Given the description of an element on the screen output the (x, y) to click on. 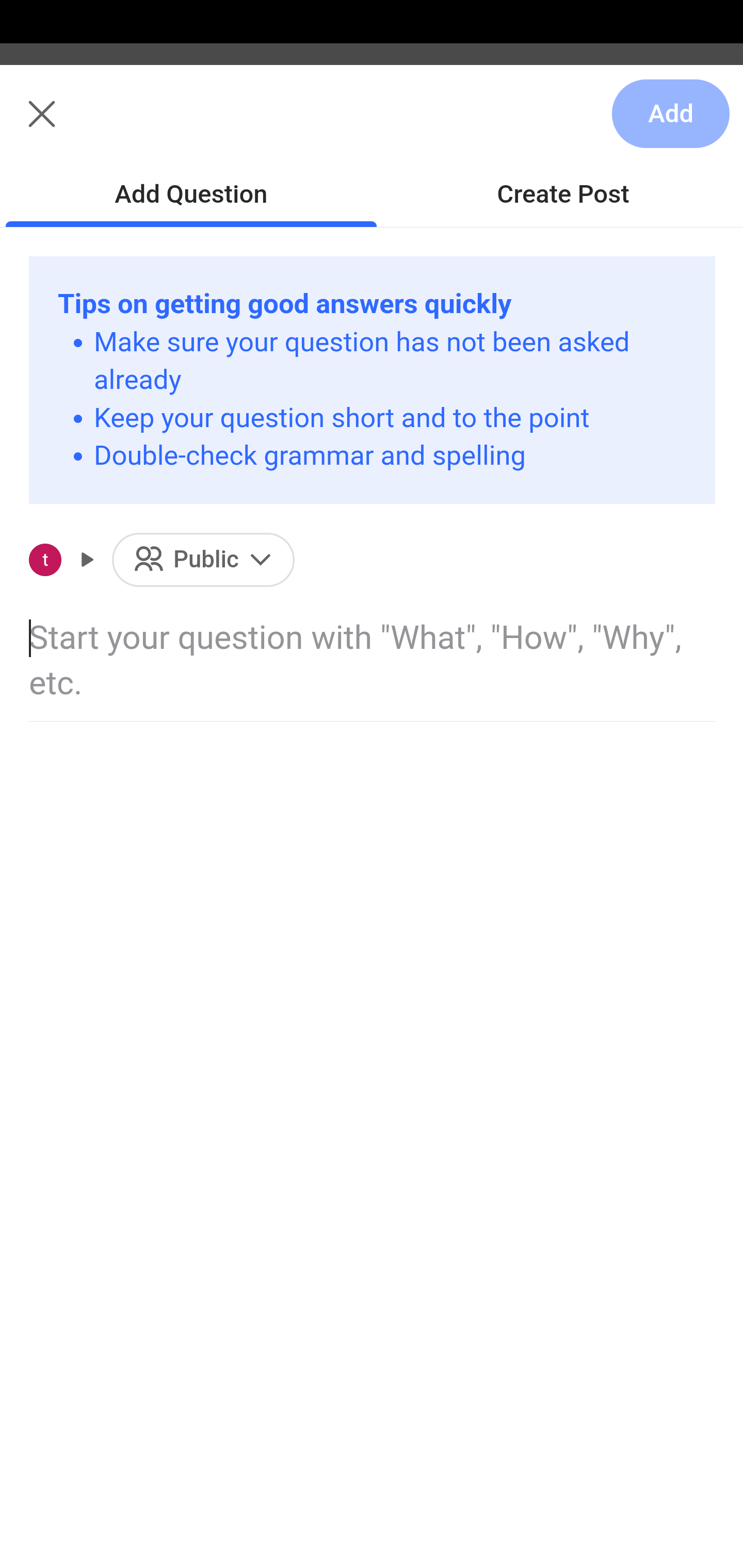
Me Home Search Add (371, 125)
Me (64, 125)
